Given the description of an element on the screen output the (x, y) to click on. 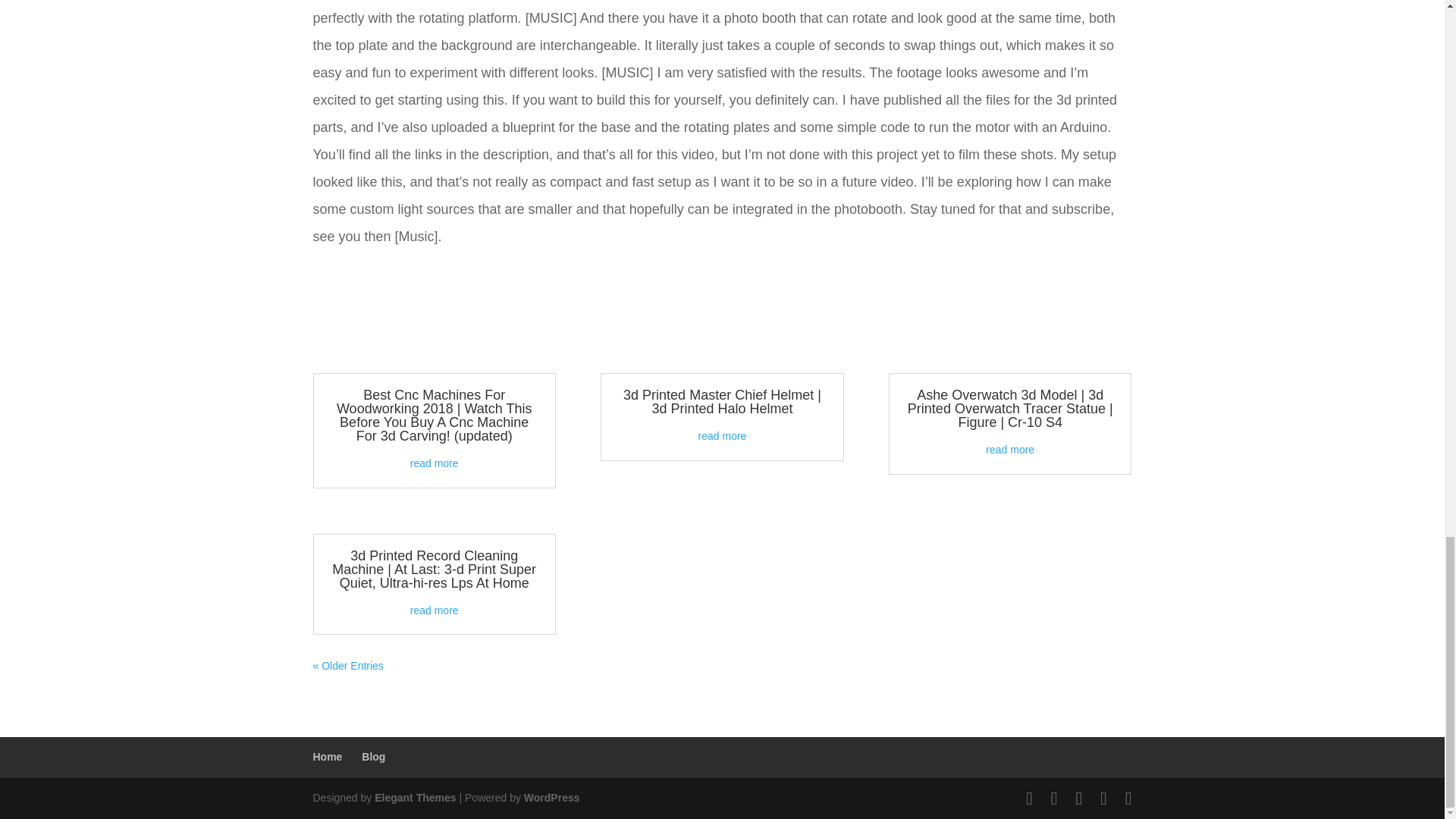
read more (1009, 449)
Home (327, 756)
Premium WordPress Themes (414, 797)
read more (722, 435)
WordPress (551, 797)
read more (434, 610)
Blog (373, 756)
Elegant Themes (414, 797)
read more (434, 463)
